Given the description of an element on the screen output the (x, y) to click on. 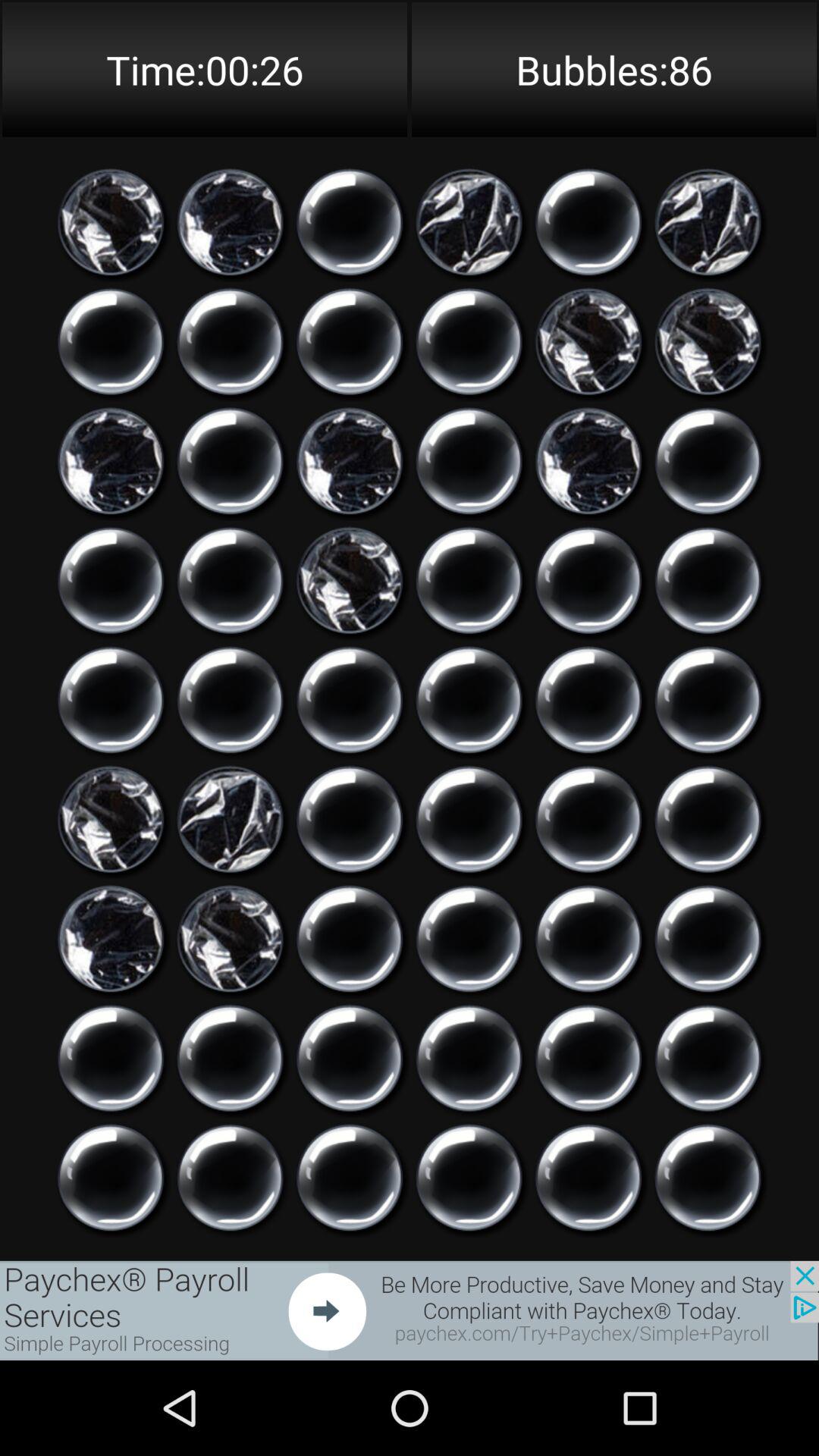
click bubble option (349, 938)
